Given the description of an element on the screen output the (x, y) to click on. 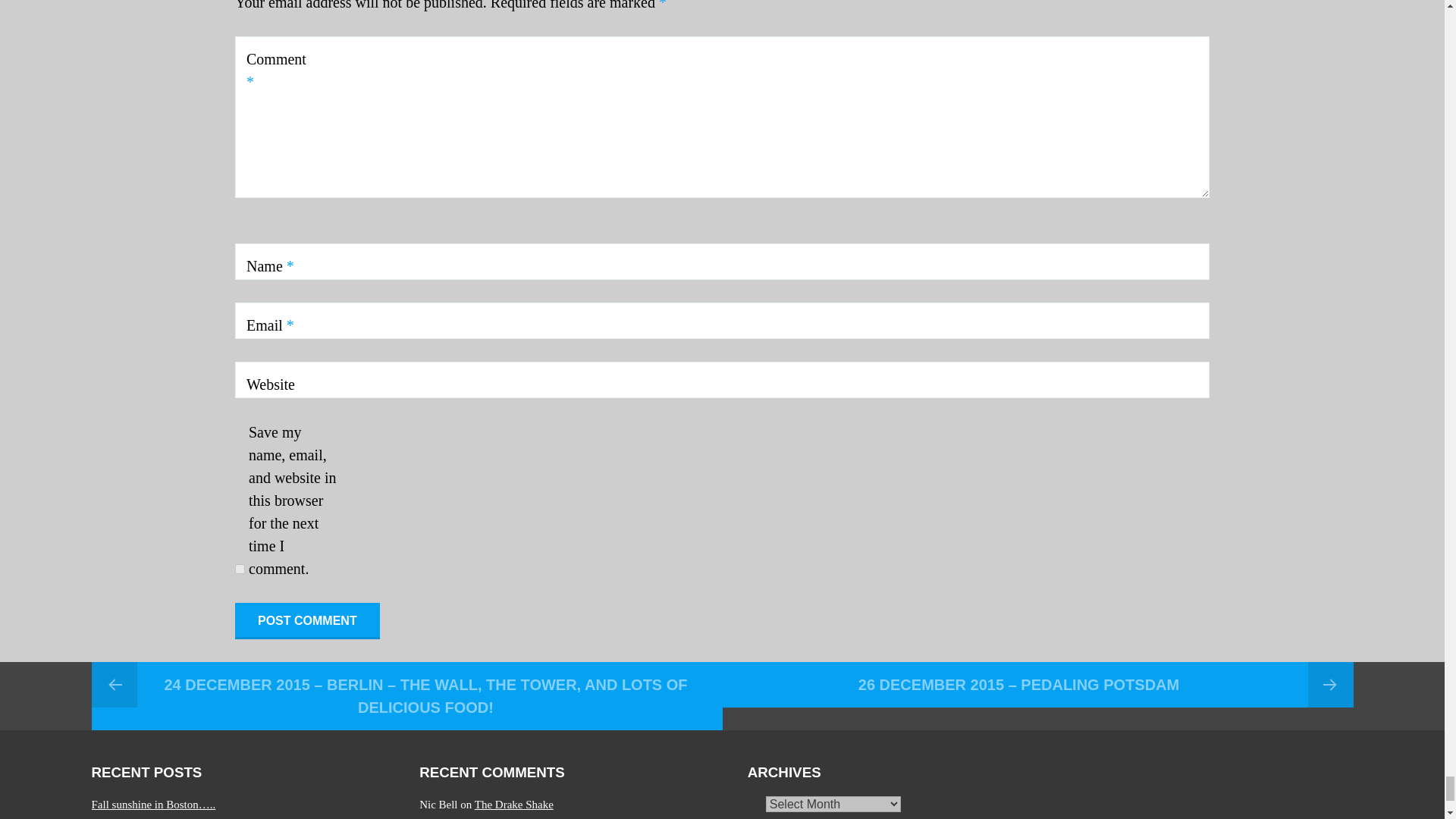
yes (239, 569)
Post Comment (307, 620)
